Given the description of an element on the screen output the (x, y) to click on. 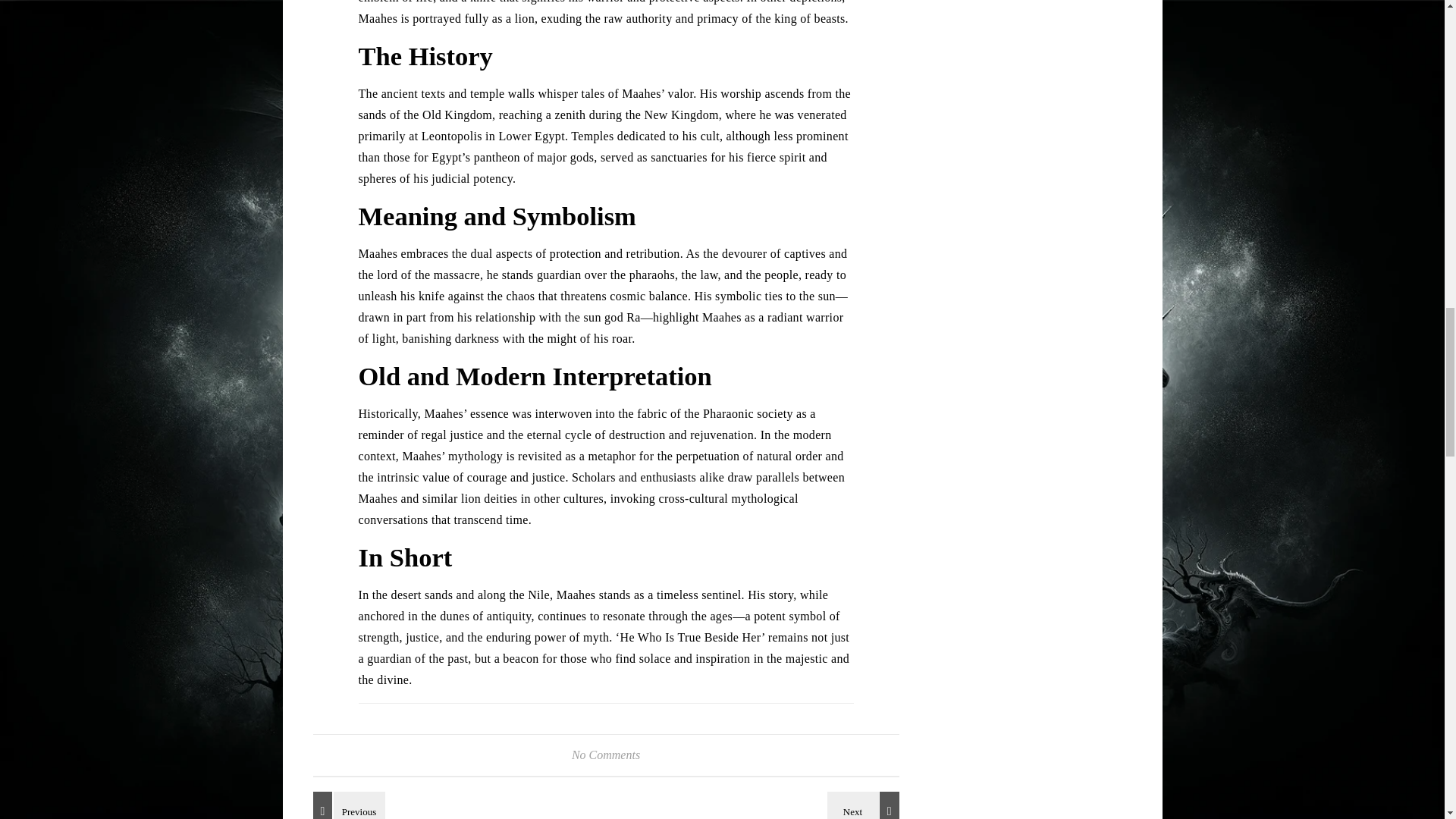
Unveiling Lampago: The Enigma of Heraldry's Man-Tiger Legend (865, 805)
